Given the description of an element on the screen output the (x, y) to click on. 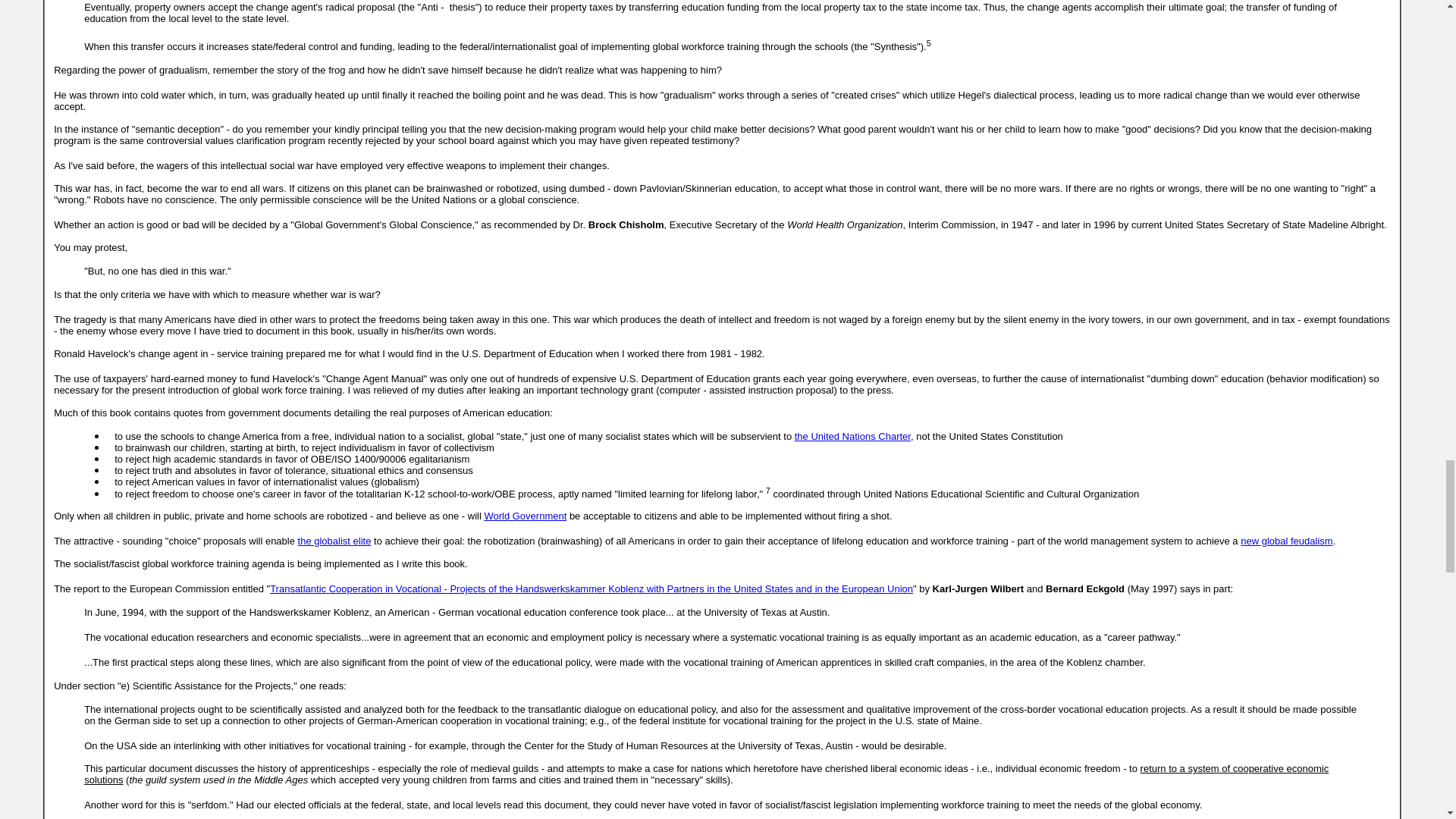
the United Nations Charter (852, 436)
new global feudalism (1286, 541)
World Government (524, 515)
the globalist elite (334, 541)
